Given the description of an element on the screen output the (x, y) to click on. 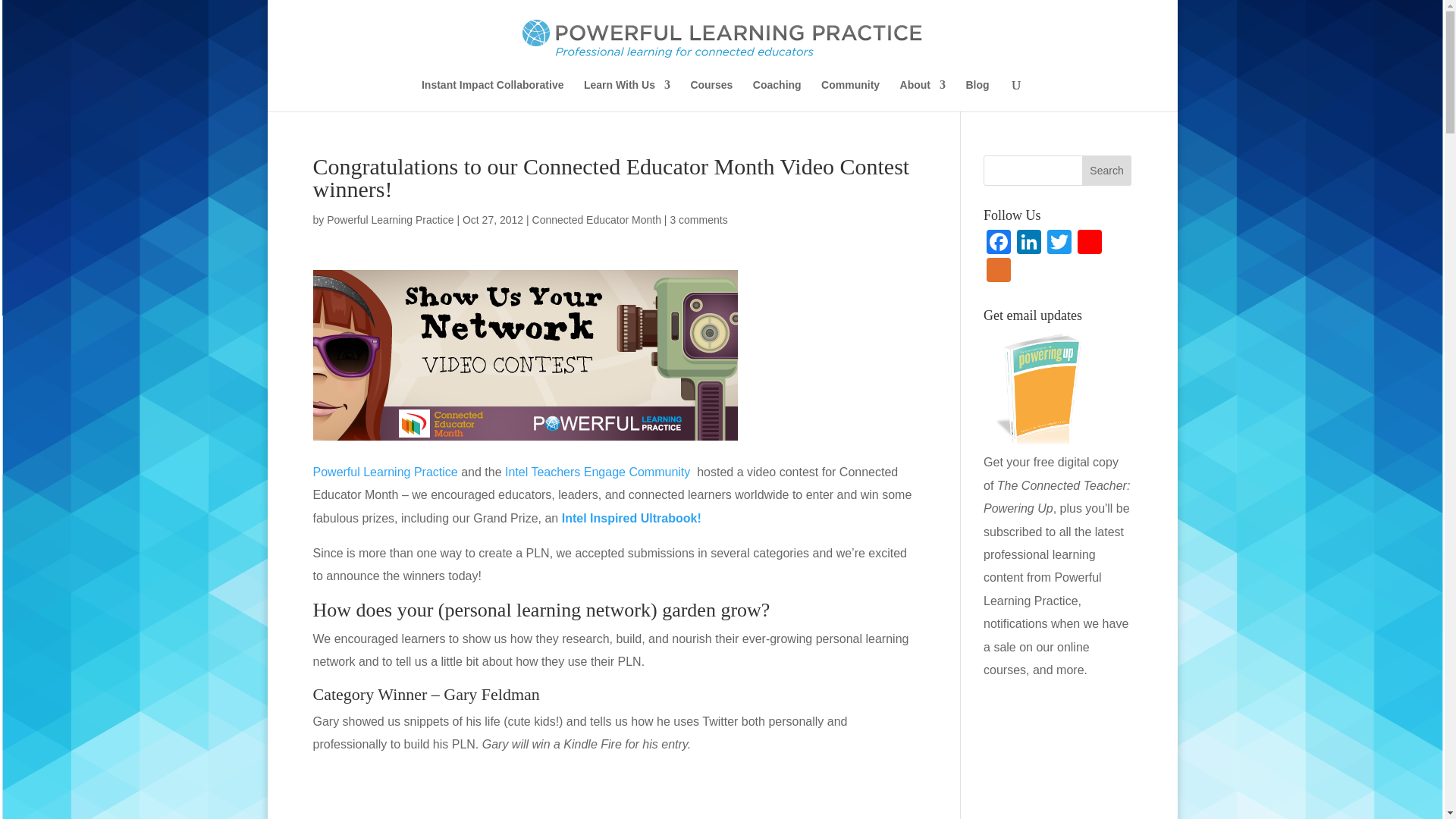
what we believe (385, 472)
Powerful Learning Practice (389, 219)
About (921, 95)
Intel Inspired Ultrabook! (631, 517)
Community (850, 95)
3 comments (697, 219)
Intel Teacher Engage Community (597, 472)
Instant Impact Collaborative (492, 95)
Video Contest (524, 355)
Learn With Us (626, 95)
